Given the description of an element on the screen output the (x, y) to click on. 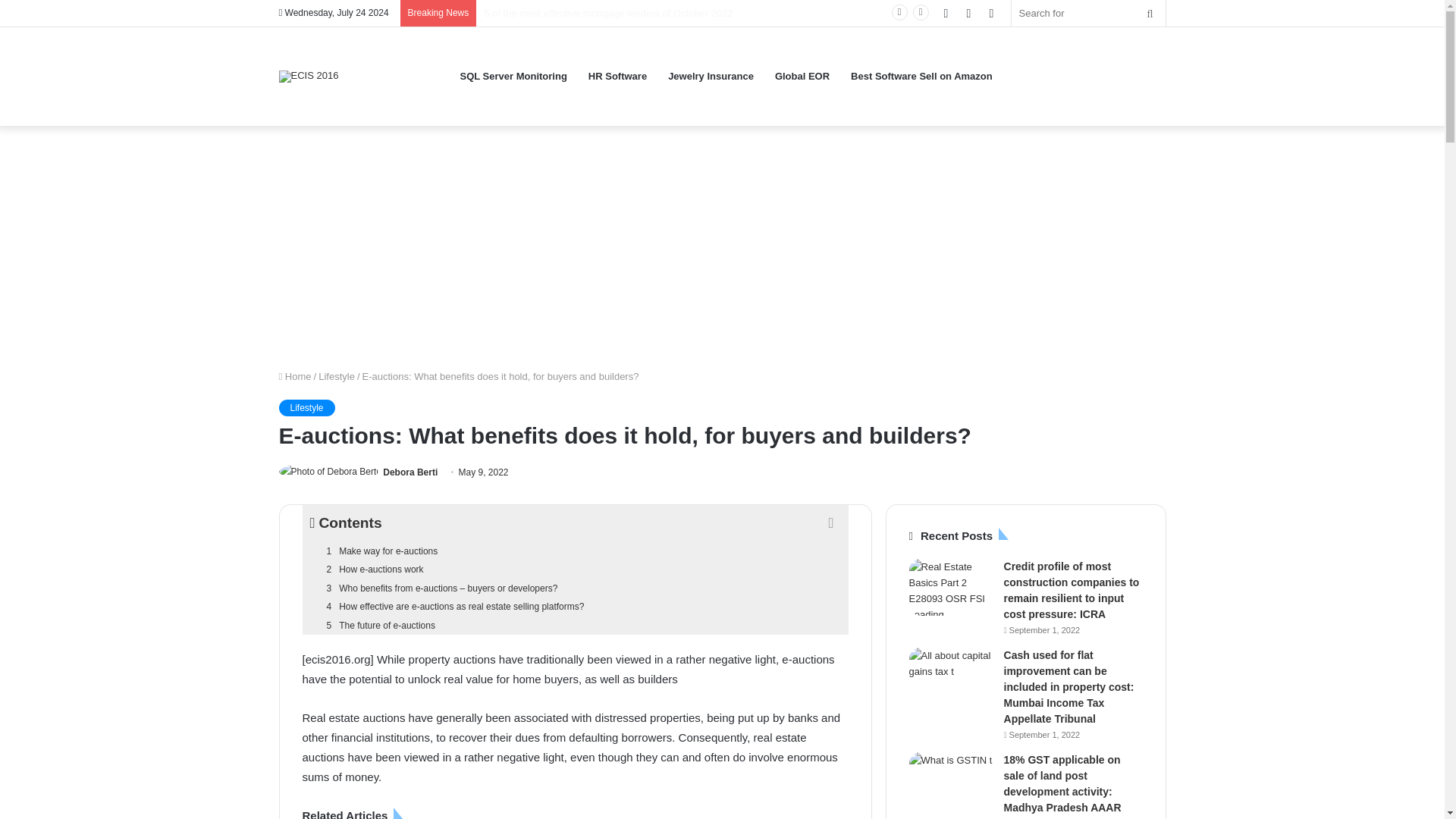
Log In (945, 13)
The future of e-auctions (574, 625)
Lifestyle (336, 376)
Search for (1088, 13)
Random Article (967, 13)
Make way for e-auctions (574, 551)
Debora Berti (410, 471)
Random Article (967, 13)
Sidebar (991, 13)
SQL Server Monitoring (512, 76)
Debora Berti (410, 471)
Best Software Sell on Amazon (921, 76)
ECIS 2016 (309, 76)
